Given the description of an element on the screen output the (x, y) to click on. 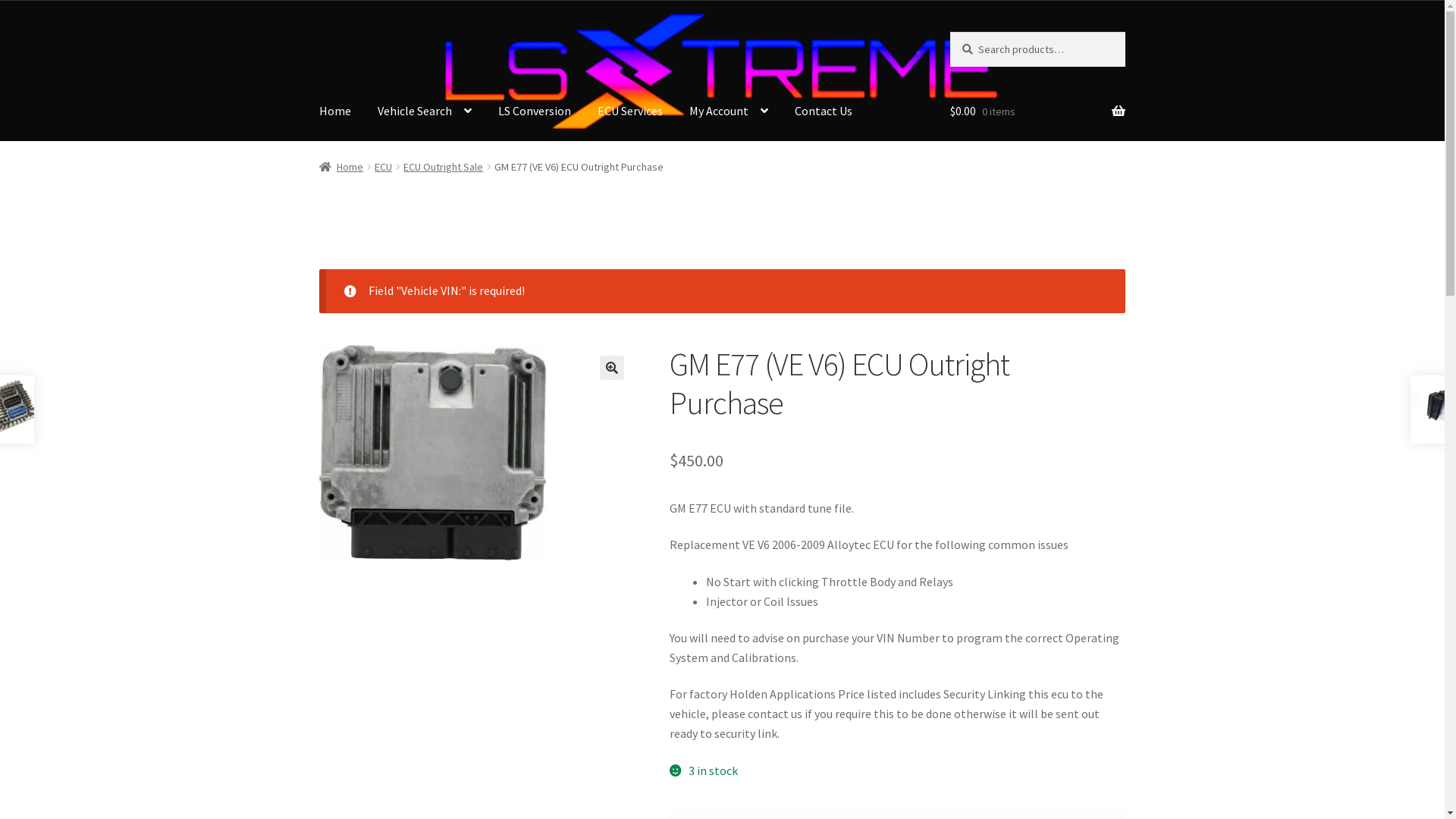
ECU Element type: text (383, 166)
Skip to navigation Element type: text (318, 31)
My Account Element type: text (728, 111)
Vehicle Search Element type: text (424, 111)
Search Element type: text (949, 31)
ECU Outright Sale Element type: text (443, 166)
s-l300 Element type: hover (432, 452)
Contact Us Element type: text (823, 111)
LS Conversion Element type: text (534, 111)
$0.00 0 items Element type: text (1037, 111)
Home Element type: text (341, 166)
ECU Services Element type: text (629, 111)
Home Element type: text (335, 111)
